Given the description of an element on the screen output the (x, y) to click on. 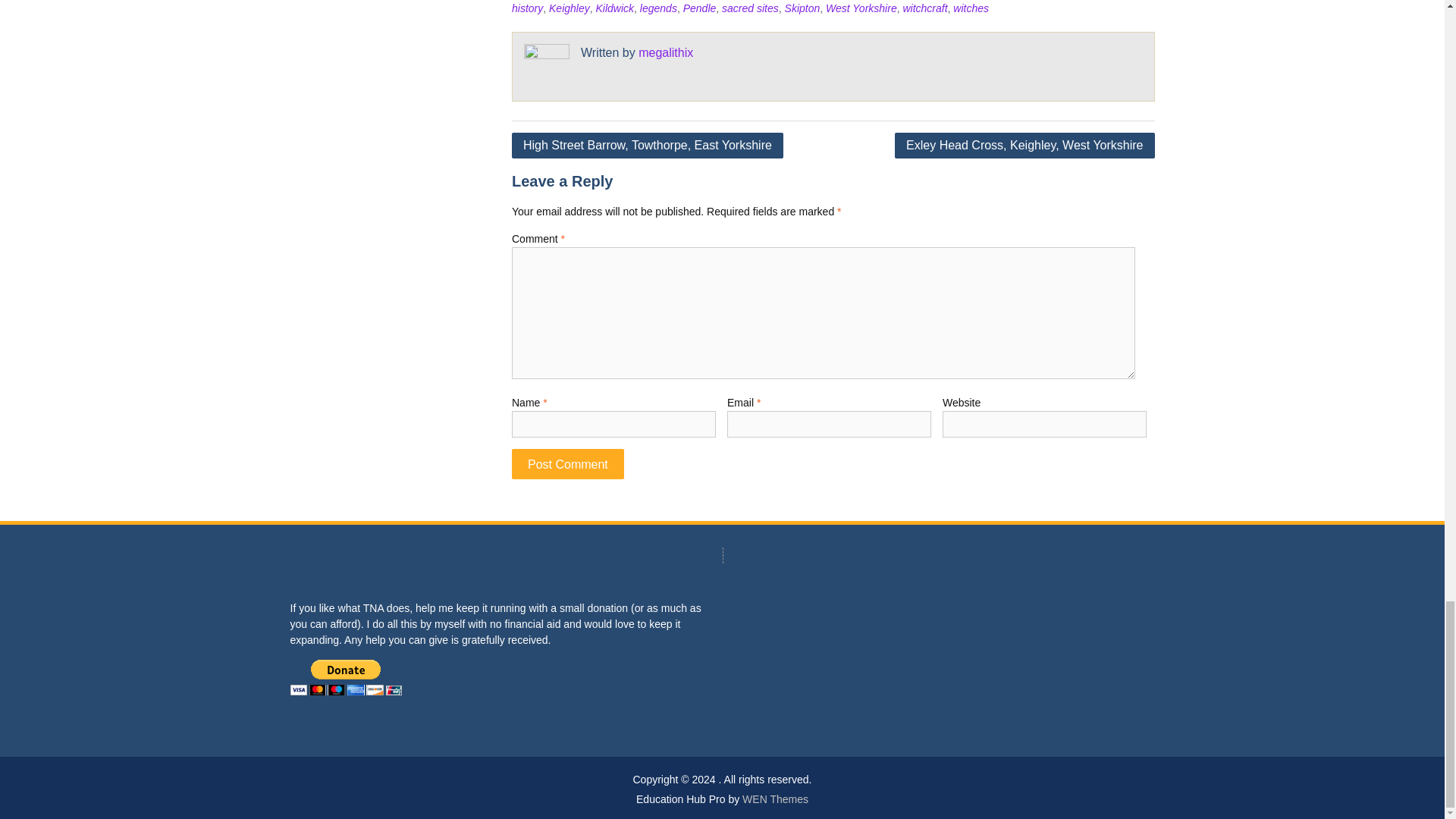
Posts by megalithix (666, 51)
Post Comment (568, 463)
